Given the description of an element on the screen output the (x, y) to click on. 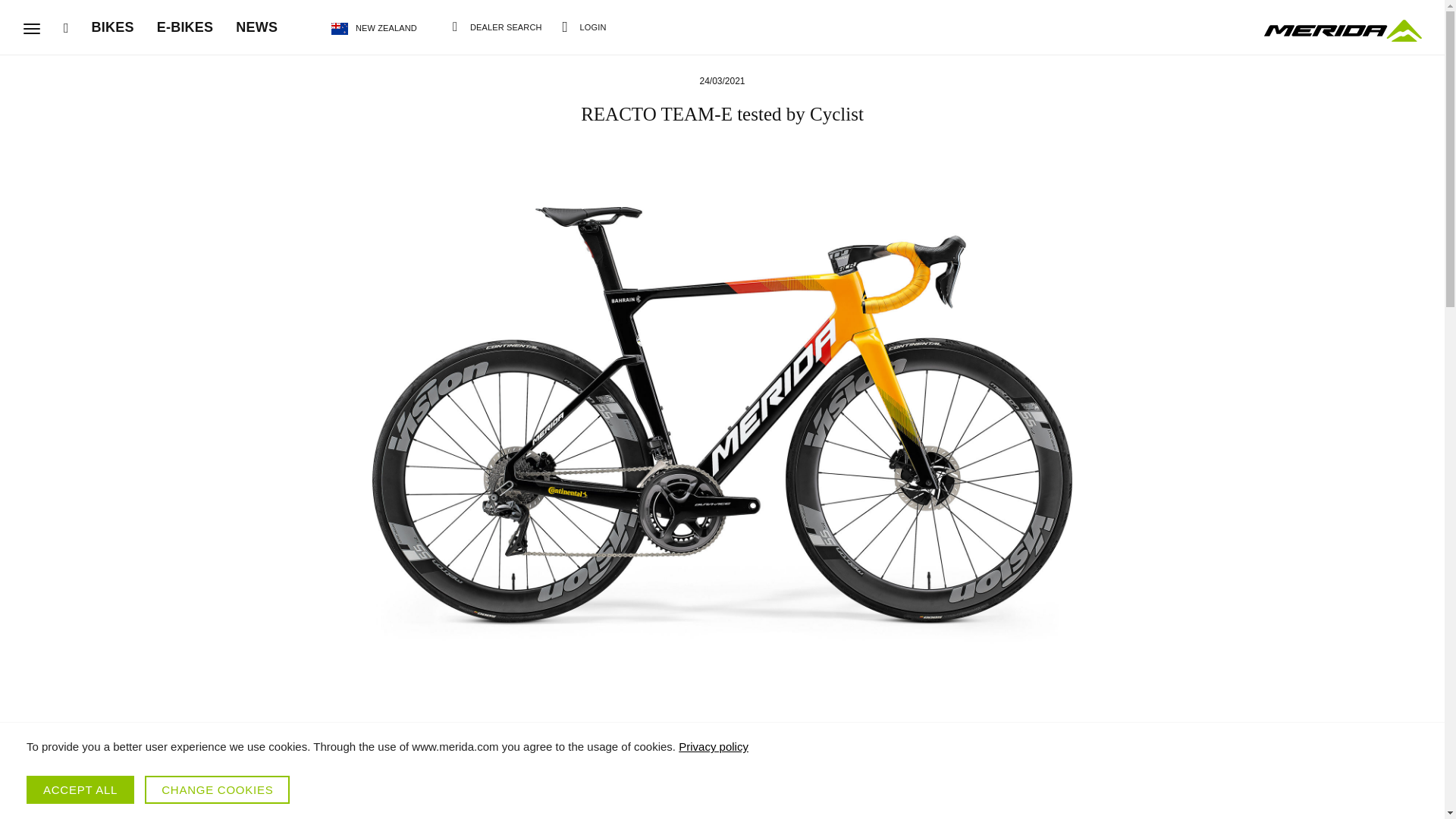
Toggle navigation (31, 28)
